Given the description of an element on the screen output the (x, y) to click on. 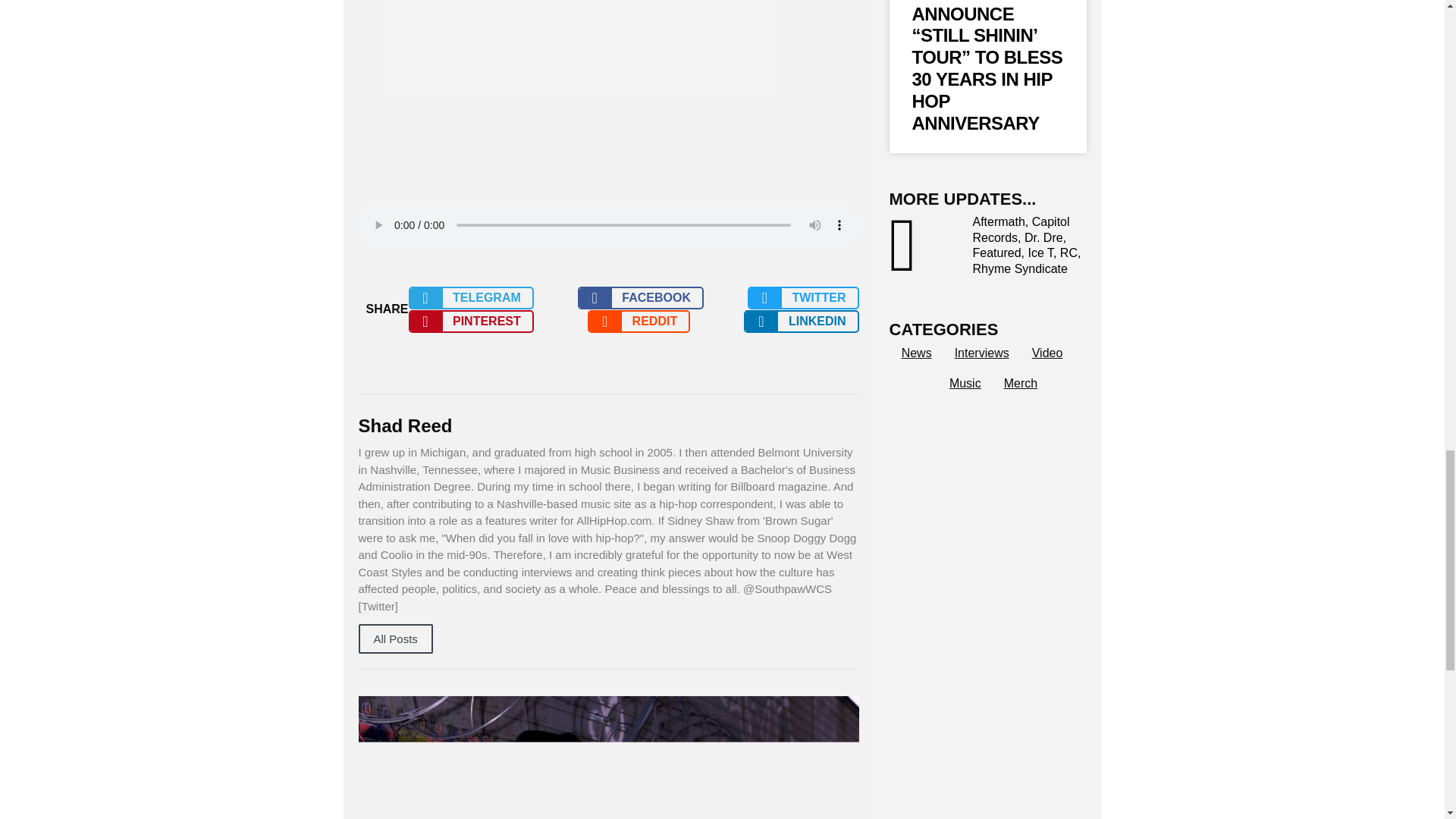
Aftermath (998, 221)
Capitol Records (1020, 229)
All Posts (395, 638)
Shad Reed (608, 426)
Dr. Dre (1043, 237)
Featured (996, 252)
